Given the description of an element on the screen output the (x, y) to click on. 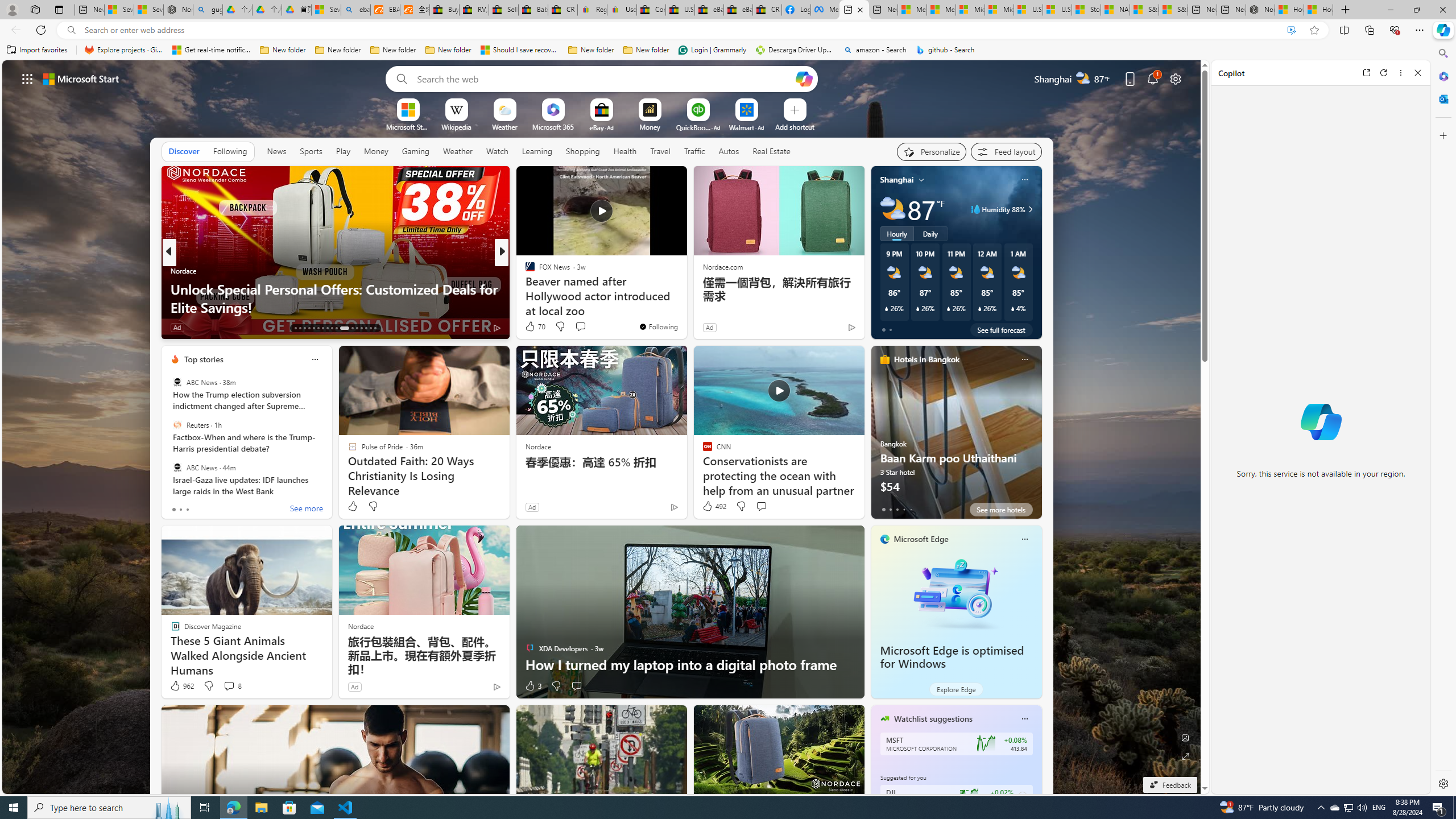
Close (1417, 72)
Shopping (583, 151)
Hotels in Bangkok (926, 359)
Open Copilot (803, 78)
Sports (310, 151)
RV, Trailer & Camper Steps & Ladders for sale | eBay (473, 9)
Top stories (203, 359)
Real Wild (524, 288)
tab-0 (882, 509)
Start the conversation (576, 685)
Sell worldwide with eBay (502, 9)
